Given the description of an element on the screen output the (x, y) to click on. 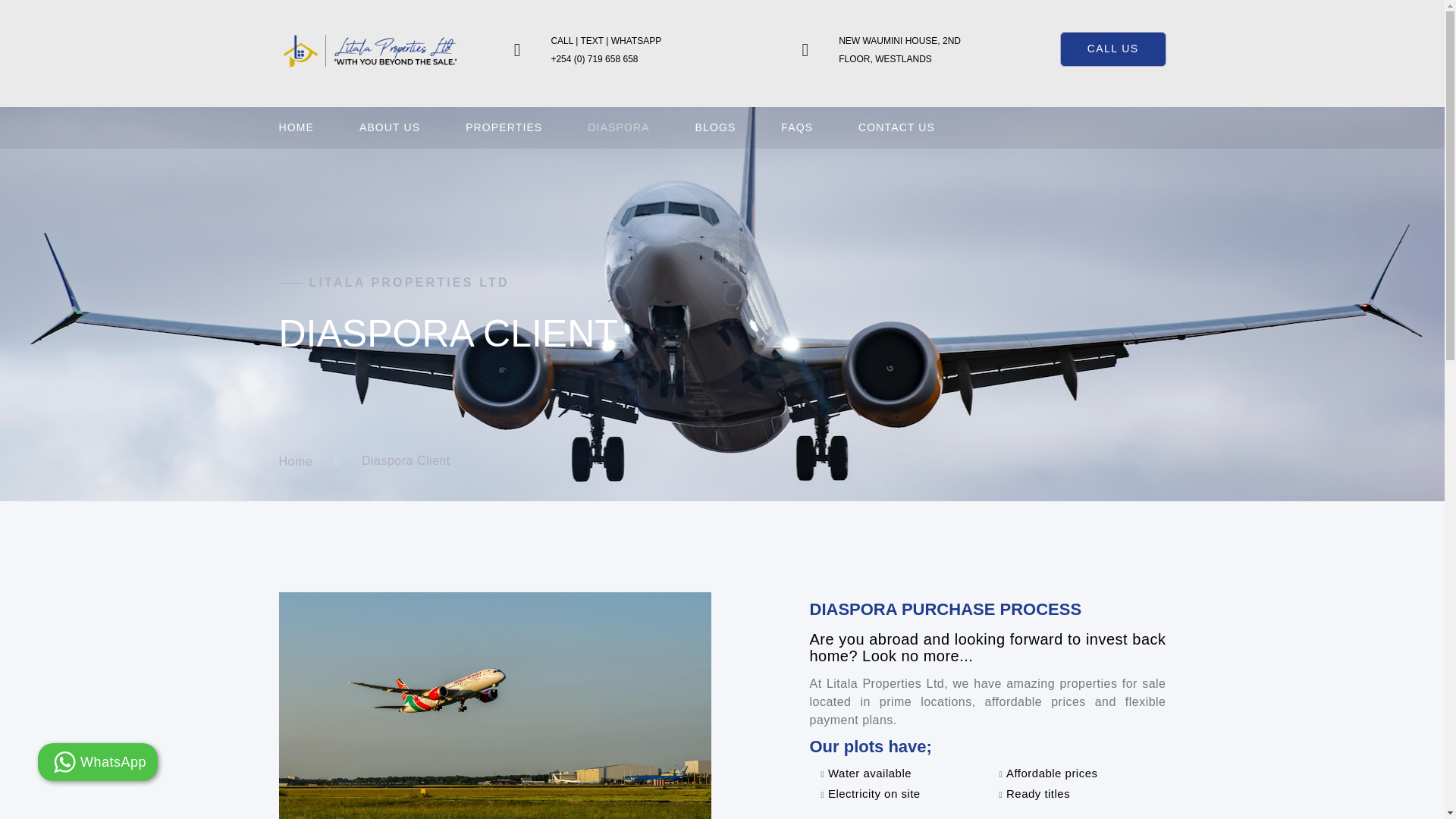
ABOUT US (389, 127)
HOME (296, 127)
Home (296, 461)
CONTACT US (896, 127)
CALL US (1112, 48)
PROPERTIES (503, 127)
DIASPORA (618, 127)
NEW WAUMINI HOUSE, 2ND FLOOR, WESTLANDS (899, 50)
FAQS (796, 127)
BLOGS (715, 127)
